Given the description of an element on the screen output the (x, y) to click on. 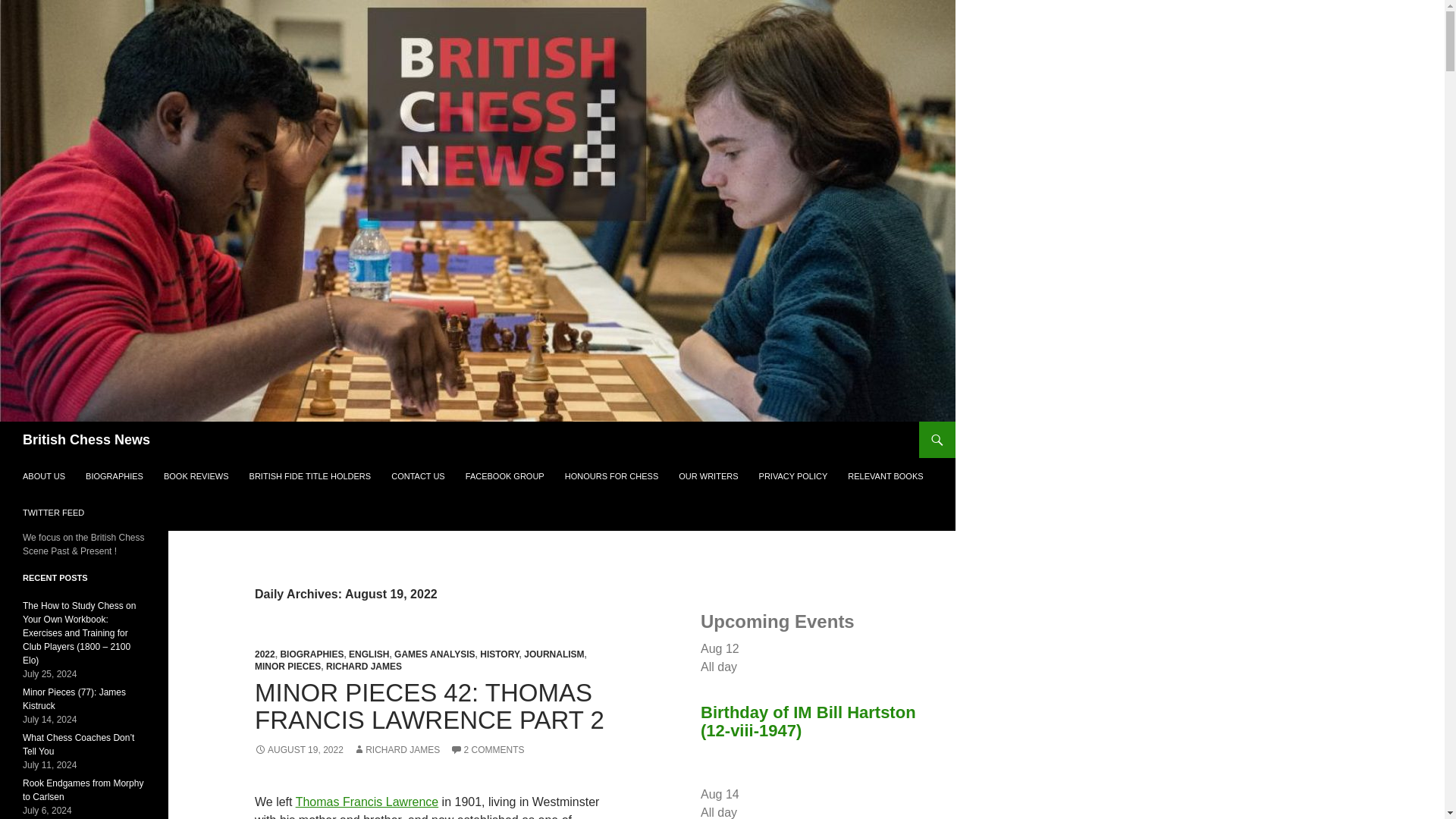
Event Series (745, 811)
MINOR PIECES 42: THOMAS FRANCIS LAWRENCE PART 2 (429, 705)
BIOGRAPHIES (114, 475)
FACEBOOK GROUP (505, 475)
HONOURS FOR CHESS (611, 475)
ENGLISH (368, 654)
HISTORY (499, 654)
BRITISH FIDE TITLE HOLDERS (310, 475)
2 COMMENTS (486, 749)
BIOGRAPHIES (311, 654)
